Given the description of an element on the screen output the (x, y) to click on. 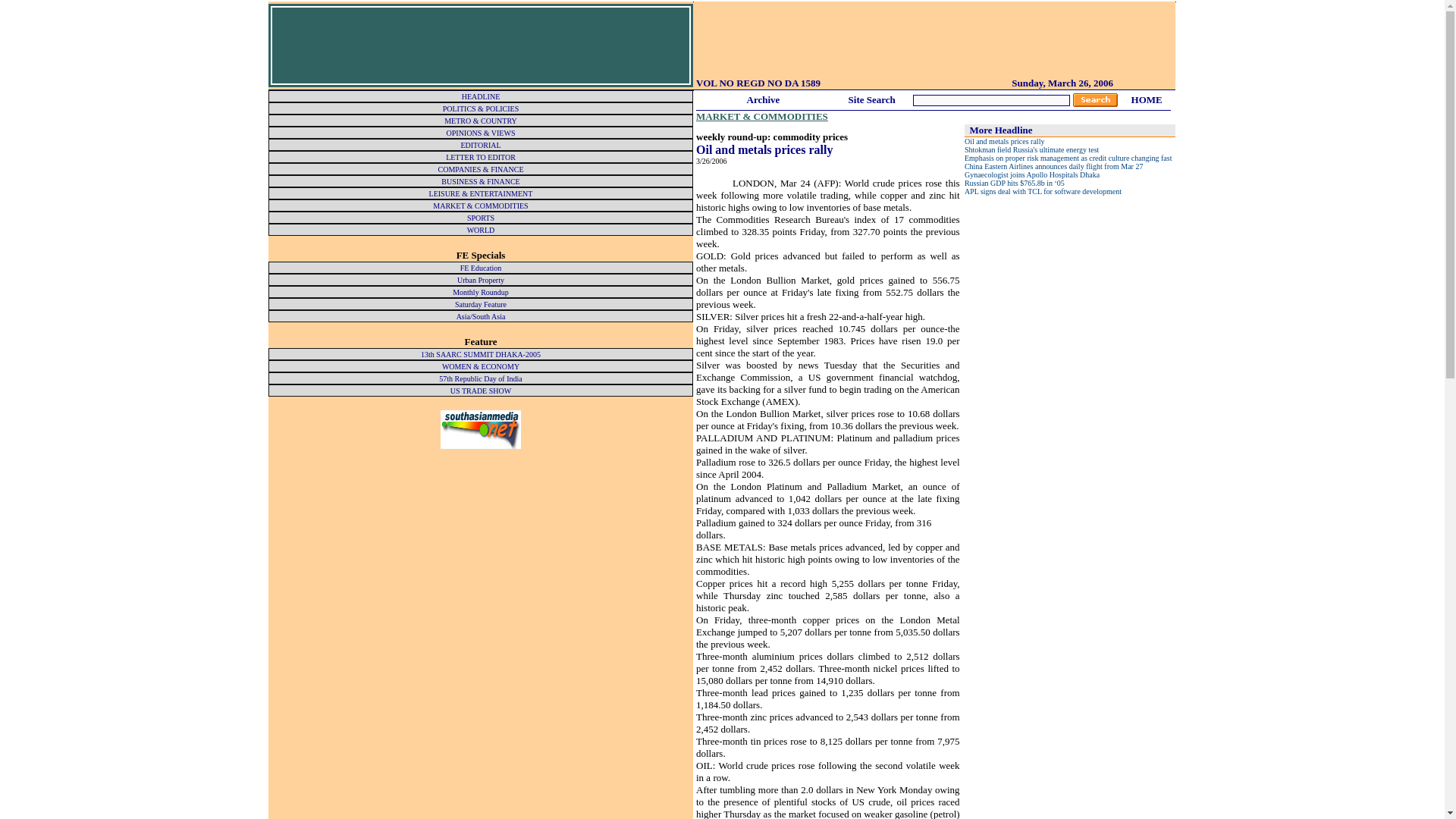
SPORTS (481, 217)
HEADLINE (480, 96)
China Eastern Airlines announces daily flight from Mar 27 (1052, 166)
LETTER TO EDITOR (480, 157)
Shtokman field Russia's ultimate energy test (1031, 149)
WORLD (481, 230)
Urban Property (480, 280)
EDITORIAL (480, 144)
Oil and metals prices rally (1004, 141)
